Given the description of an element on the screen output the (x, y) to click on. 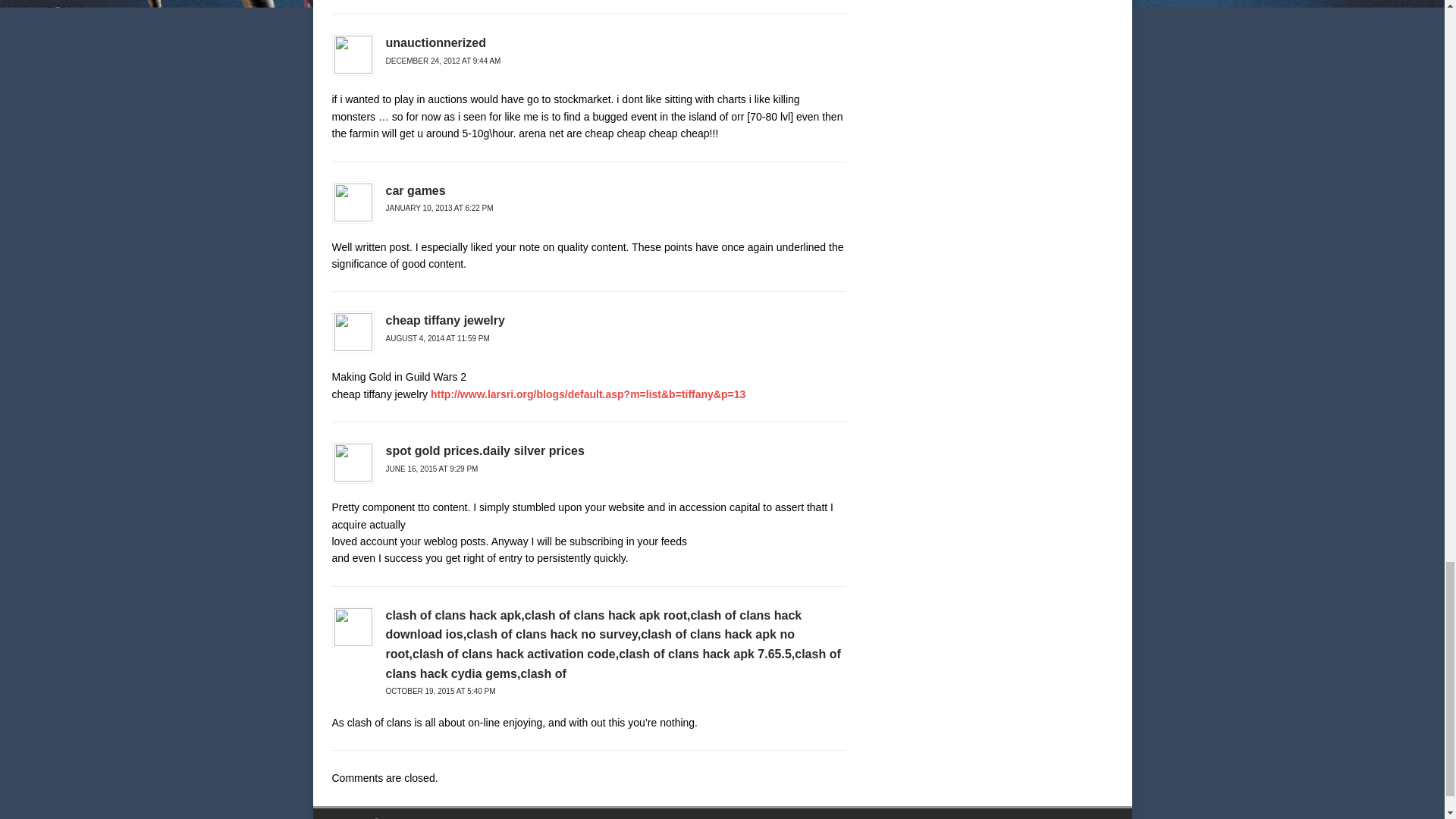
cheap tiffany jewelry (444, 319)
DECEMBER 24, 2012 AT 9:44 AM (442, 60)
AUGUST 4, 2014 AT 11:59 PM (437, 338)
JANUARY 10, 2013 AT 6:22 PM (439, 207)
car games (415, 190)
OCTOBER 19, 2015 AT 5:40 PM (440, 691)
spot gold prices.daily silver prices (484, 450)
JUNE 16, 2015 AT 9:29 PM (431, 469)
